Given the description of an element on the screen output the (x, y) to click on. 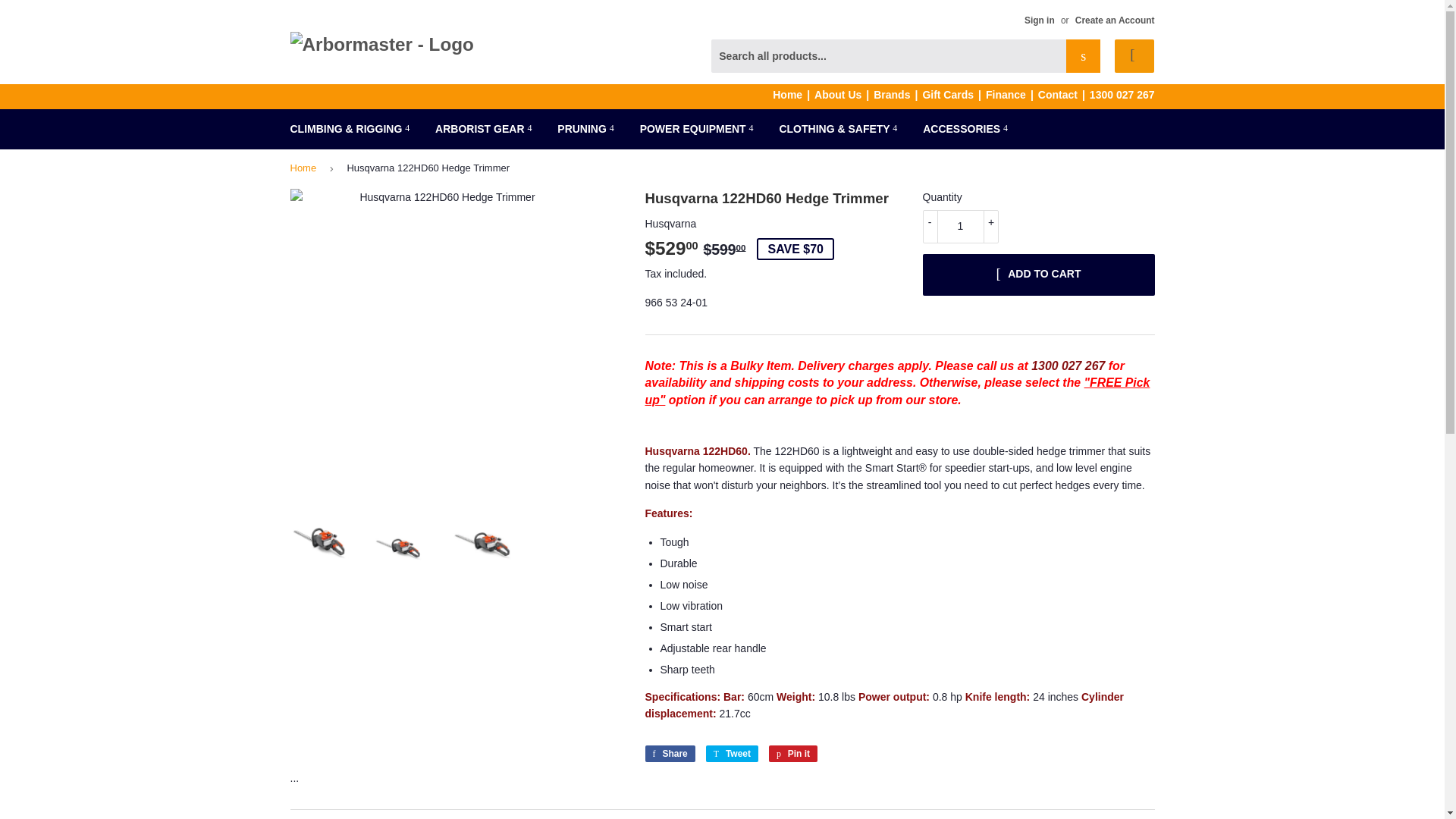
1 (959, 226)
Pin on Pinterest (792, 753)
Home (793, 94)
About Us (843, 94)
Sign in (1039, 20)
Brands (897, 94)
Share on Facebook (669, 753)
Finance (1011, 94)
Tweet on Twitter (732, 753)
Create an Account (1114, 20)
